Given the description of an element on the screen output the (x, y) to click on. 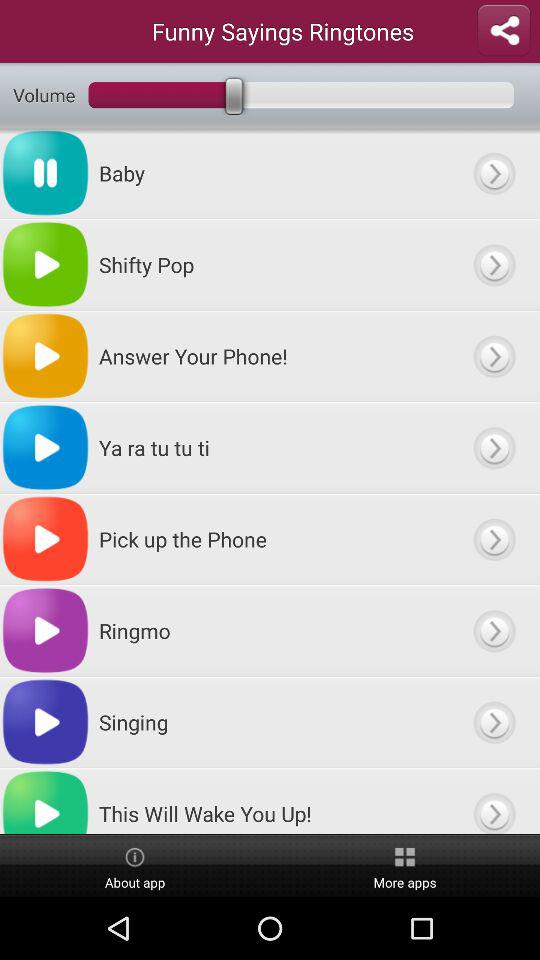
open context menu (494, 264)
